Given the description of an element on the screen output the (x, y) to click on. 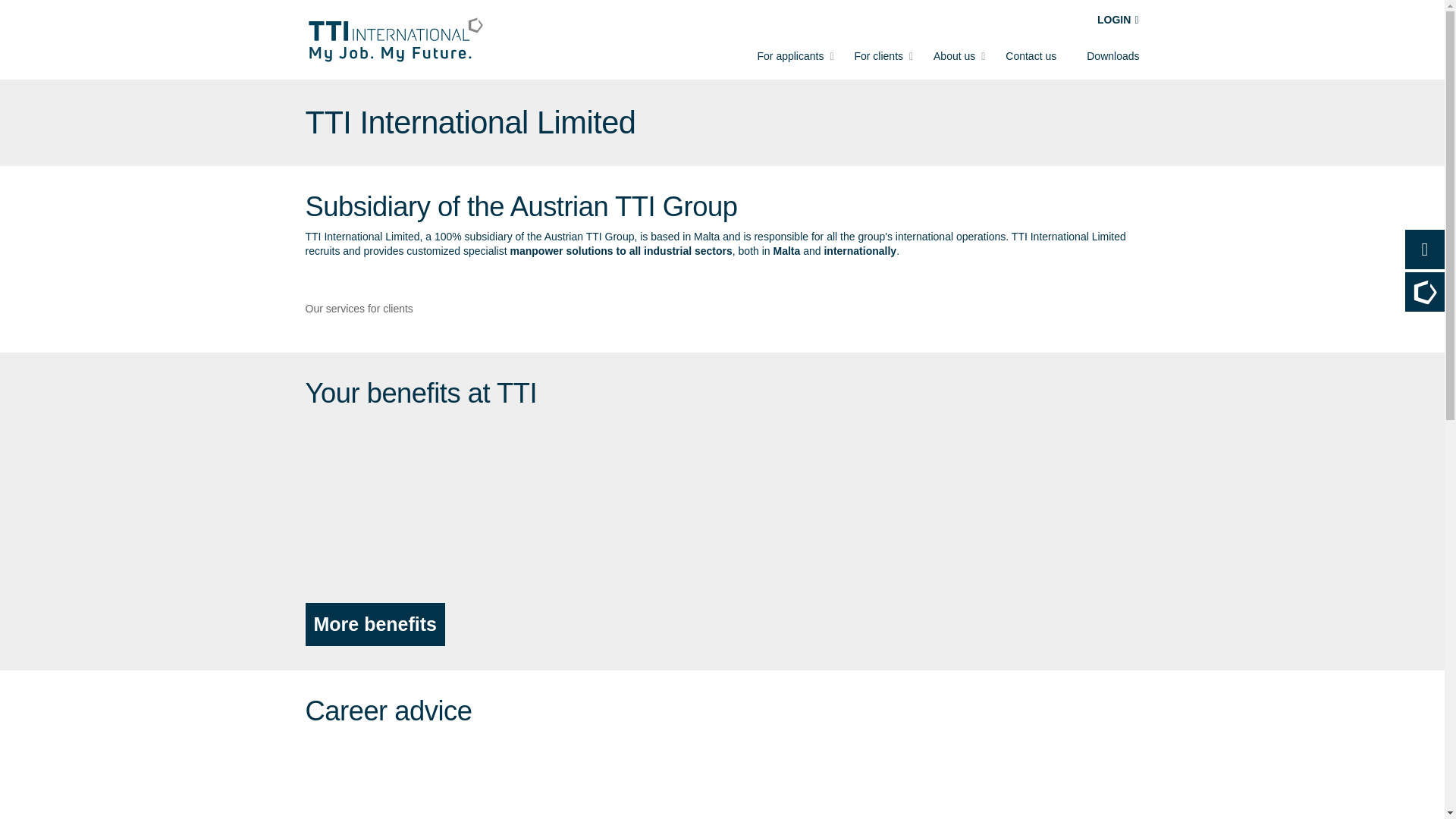
Contact us (1031, 56)
For applicants (790, 56)
LOGIN (1117, 19)
About us (954, 56)
Downloads (1112, 56)
For clients (877, 56)
